Given the description of an element on the screen output the (x, y) to click on. 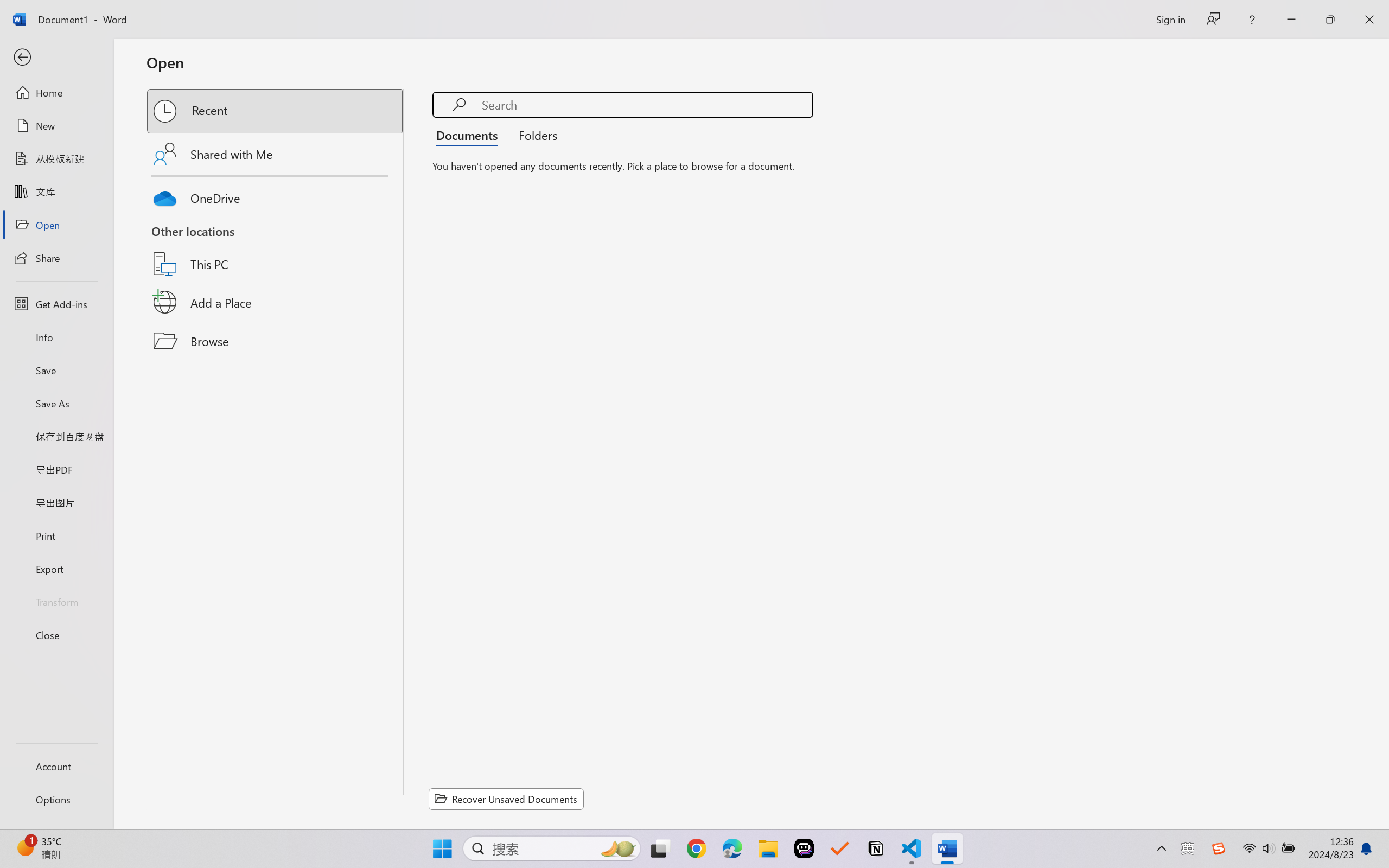
Back (56, 57)
OneDrive (275, 195)
Browse (275, 340)
Options (56, 798)
This PC (275, 249)
Export (56, 568)
